Given the description of an element on the screen output the (x, y) to click on. 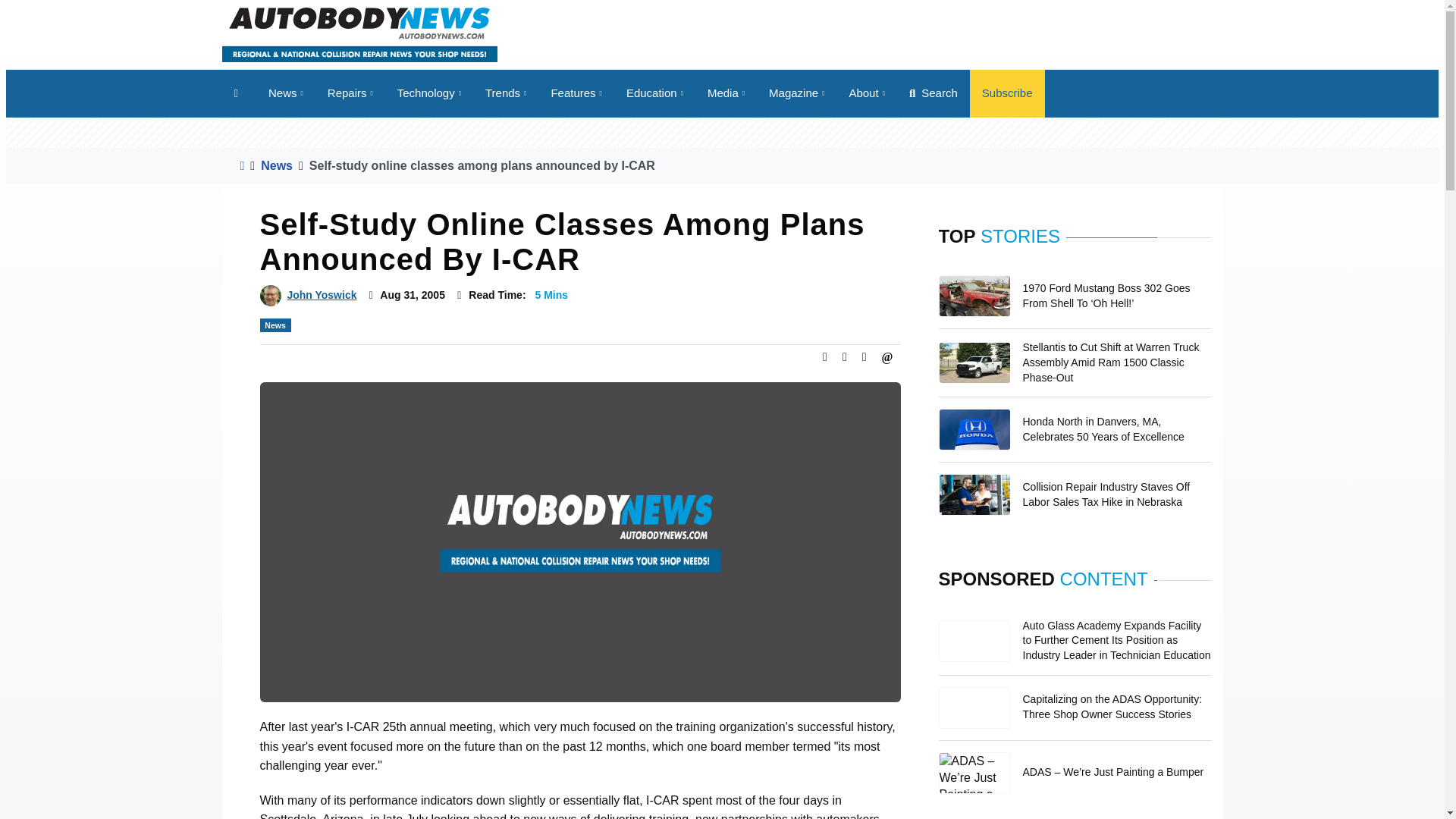
Trends (505, 93)
Autobody News (358, 33)
Features (576, 93)
Repairs (350, 93)
News (285, 93)
Technology (429, 93)
